Given the description of an element on the screen output the (x, y) to click on. 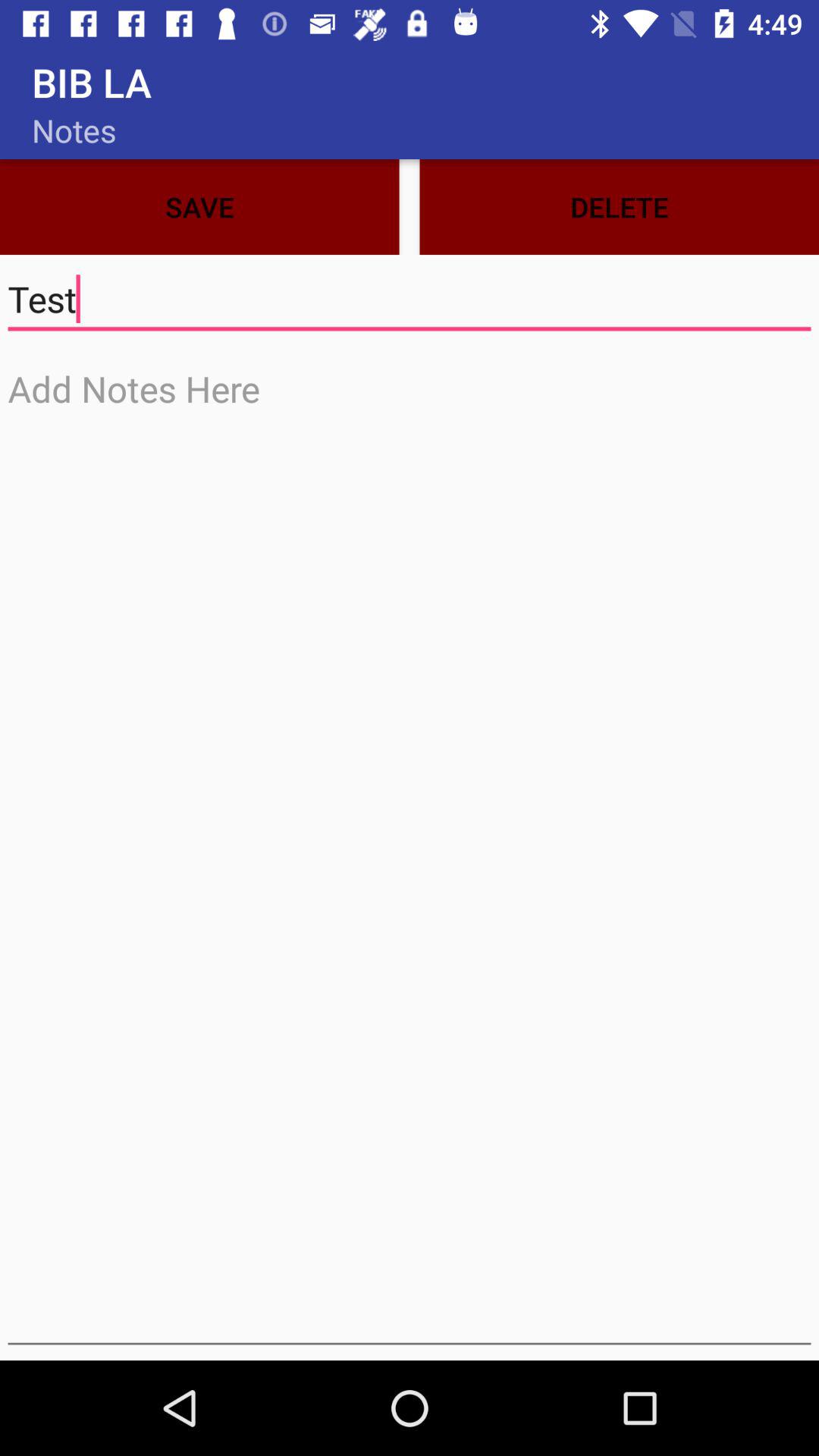
swipe to the save (199, 206)
